Given the description of an element on the screen output the (x, y) to click on. 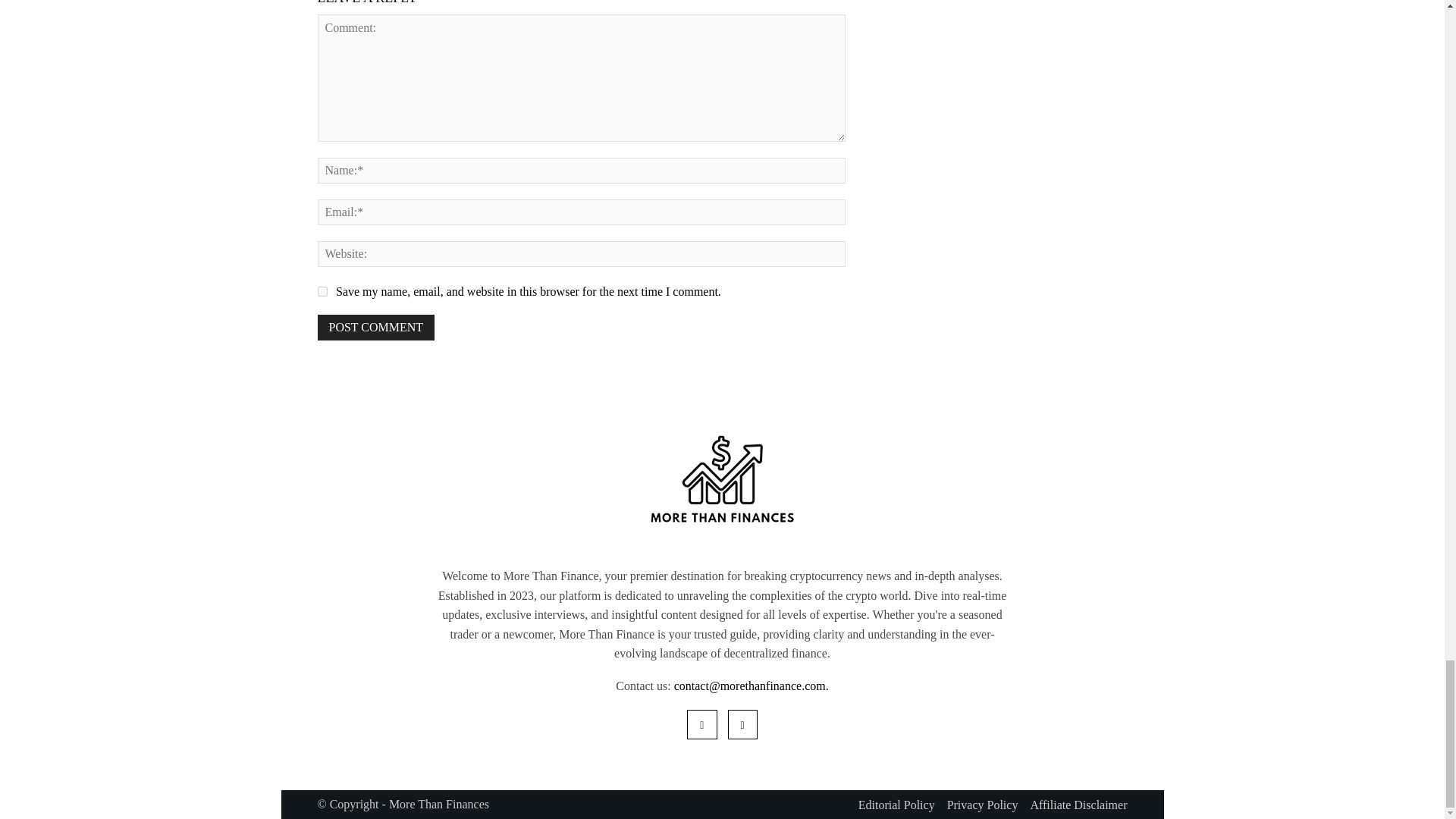
Post Comment (375, 327)
yes (321, 291)
